Given the description of an element on the screen output the (x, y) to click on. 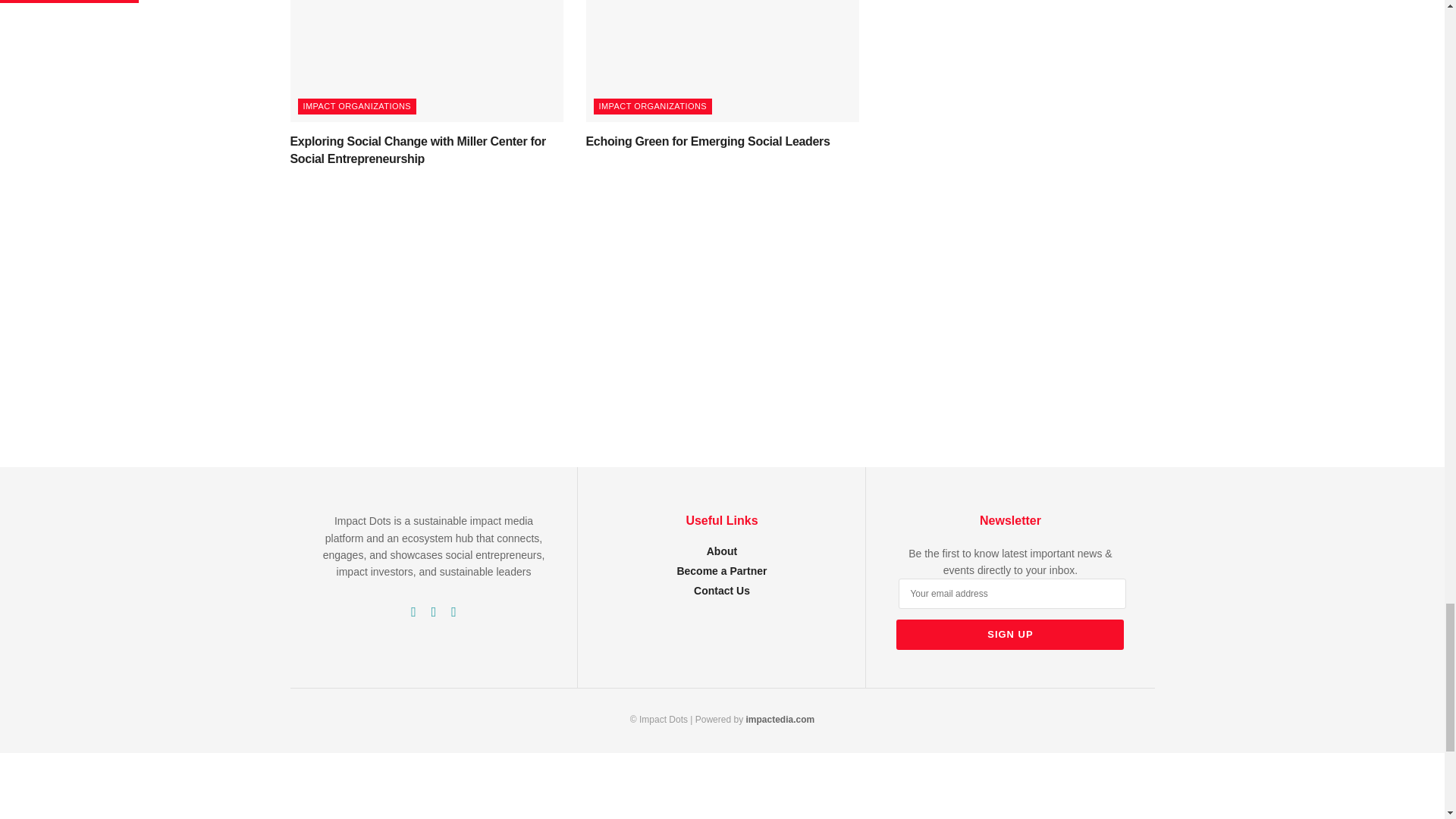
Sign up (1010, 634)
